Given the description of an element on the screen output the (x, y) to click on. 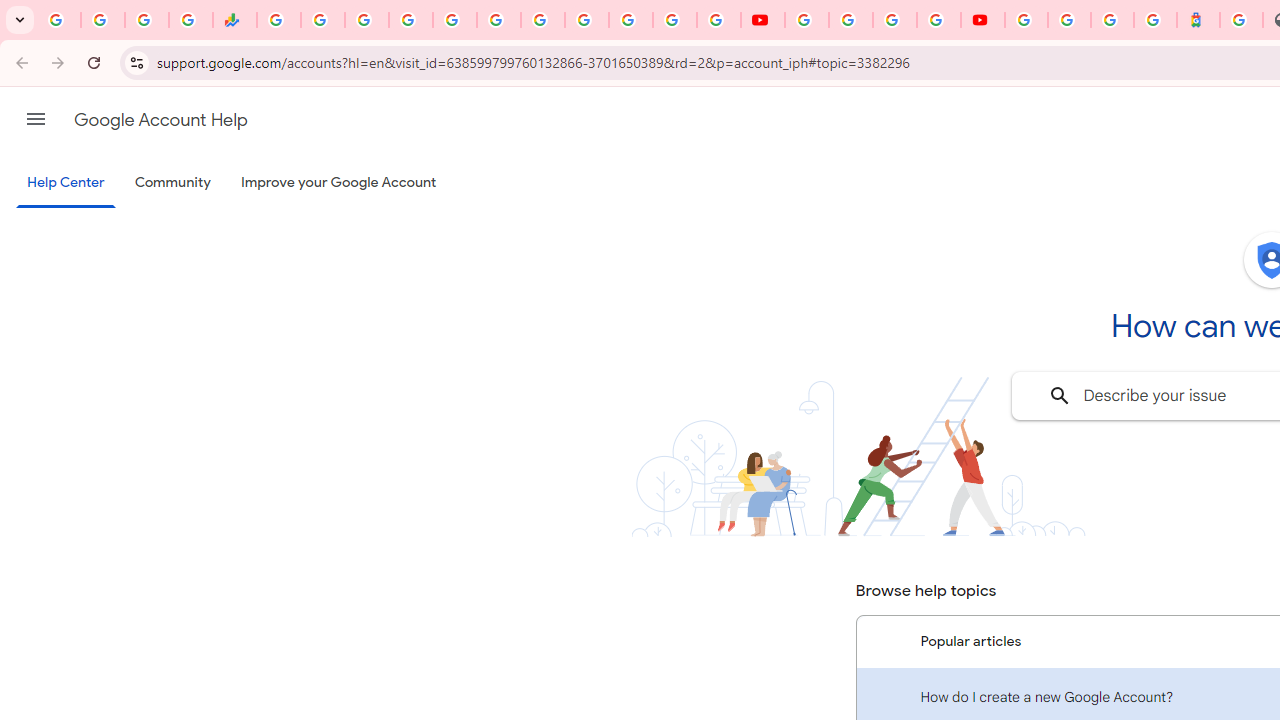
YouTube (762, 20)
Create your Google Account (894, 20)
Sign in - Google Accounts (1069, 20)
Android TV Policies and Guidelines - Transparency Center (542, 20)
